Given the description of an element on the screen output the (x, y) to click on. 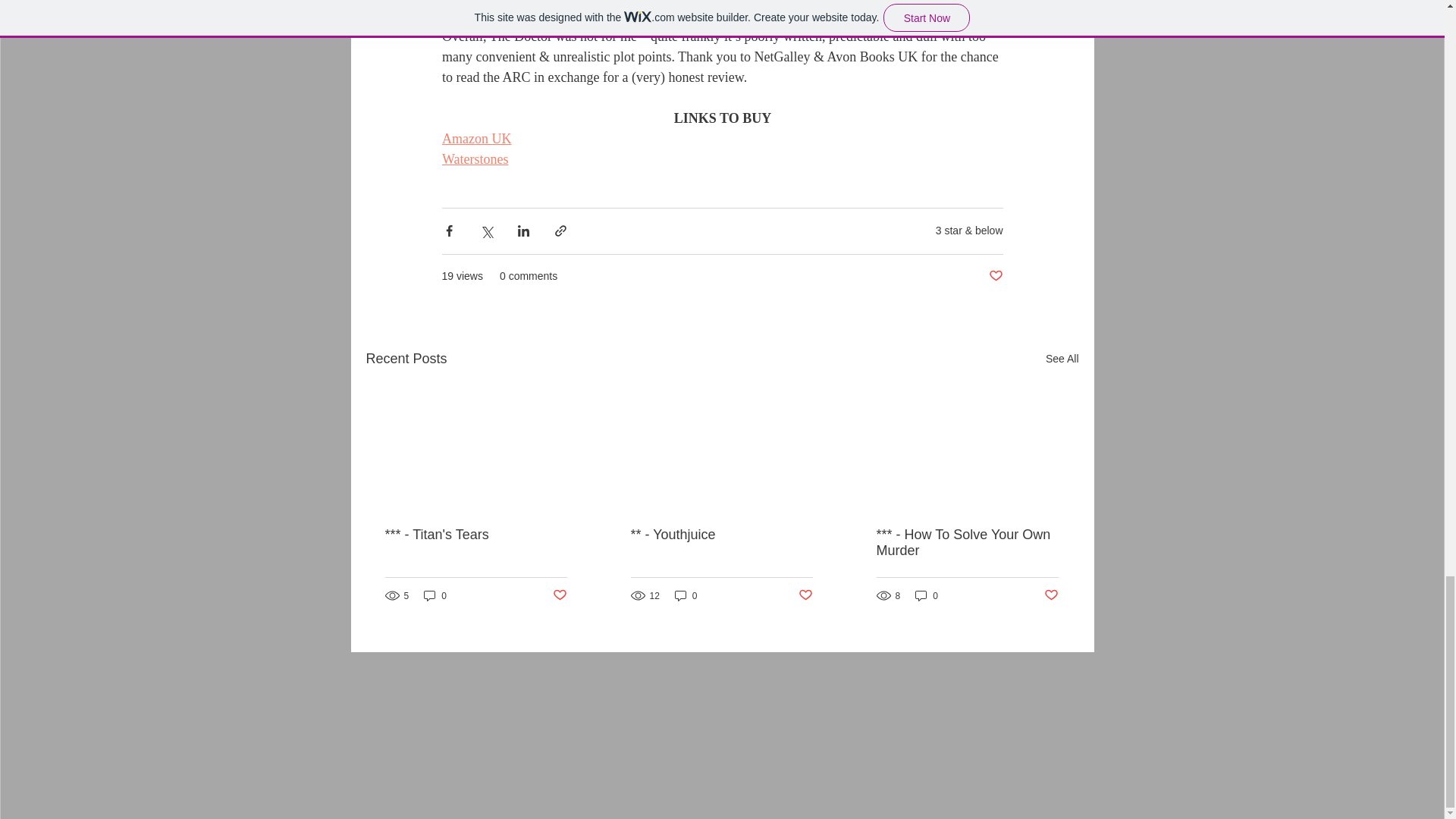
Waterstones (474, 159)
Post not marked as liked (804, 595)
0 (926, 595)
0 (435, 595)
0 (685, 595)
Post not marked as liked (558, 595)
Post not marked as liked (1050, 595)
Post not marked as liked (995, 276)
Amazon UK (476, 138)
See All (1061, 359)
